Given the description of an element on the screen output the (x, y) to click on. 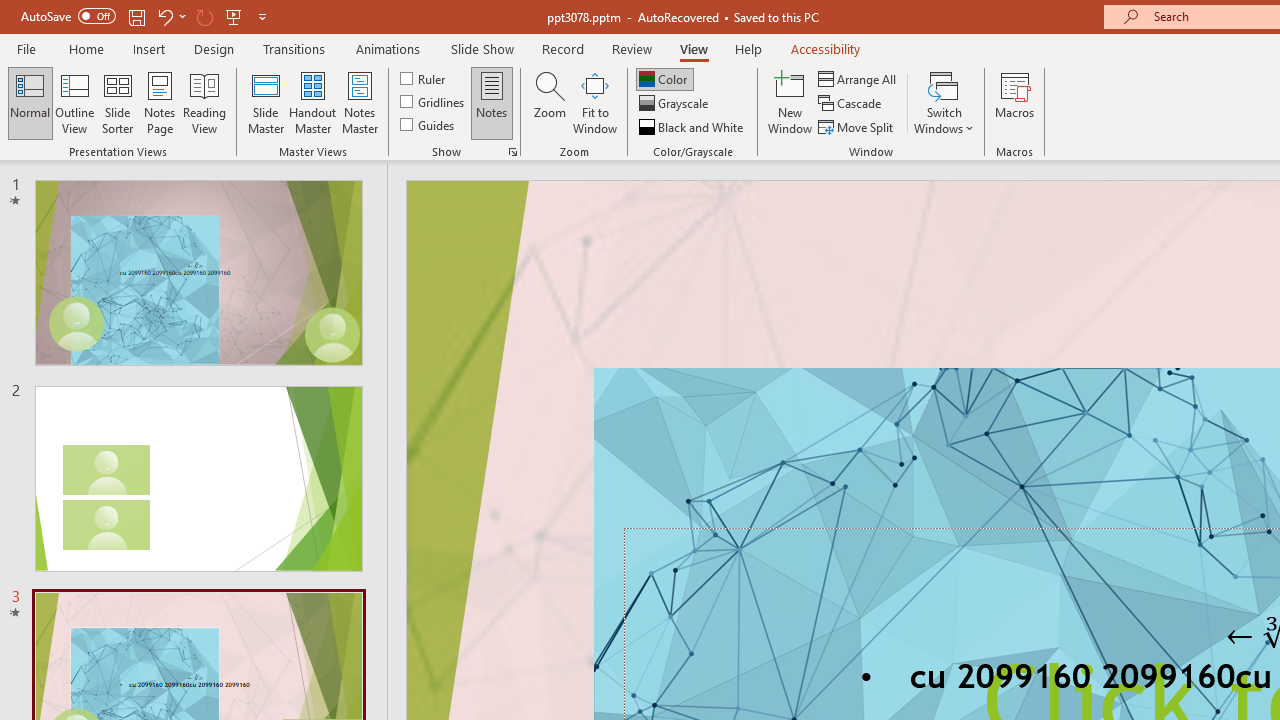
Guides (428, 124)
Handout Master (312, 102)
Gridlines (433, 101)
Switch Windows (943, 102)
New Window (790, 102)
Arrange All (858, 78)
Color (664, 78)
Fit to Window (594, 102)
Notes Master (360, 102)
